Given the description of an element on the screen output the (x, y) to click on. 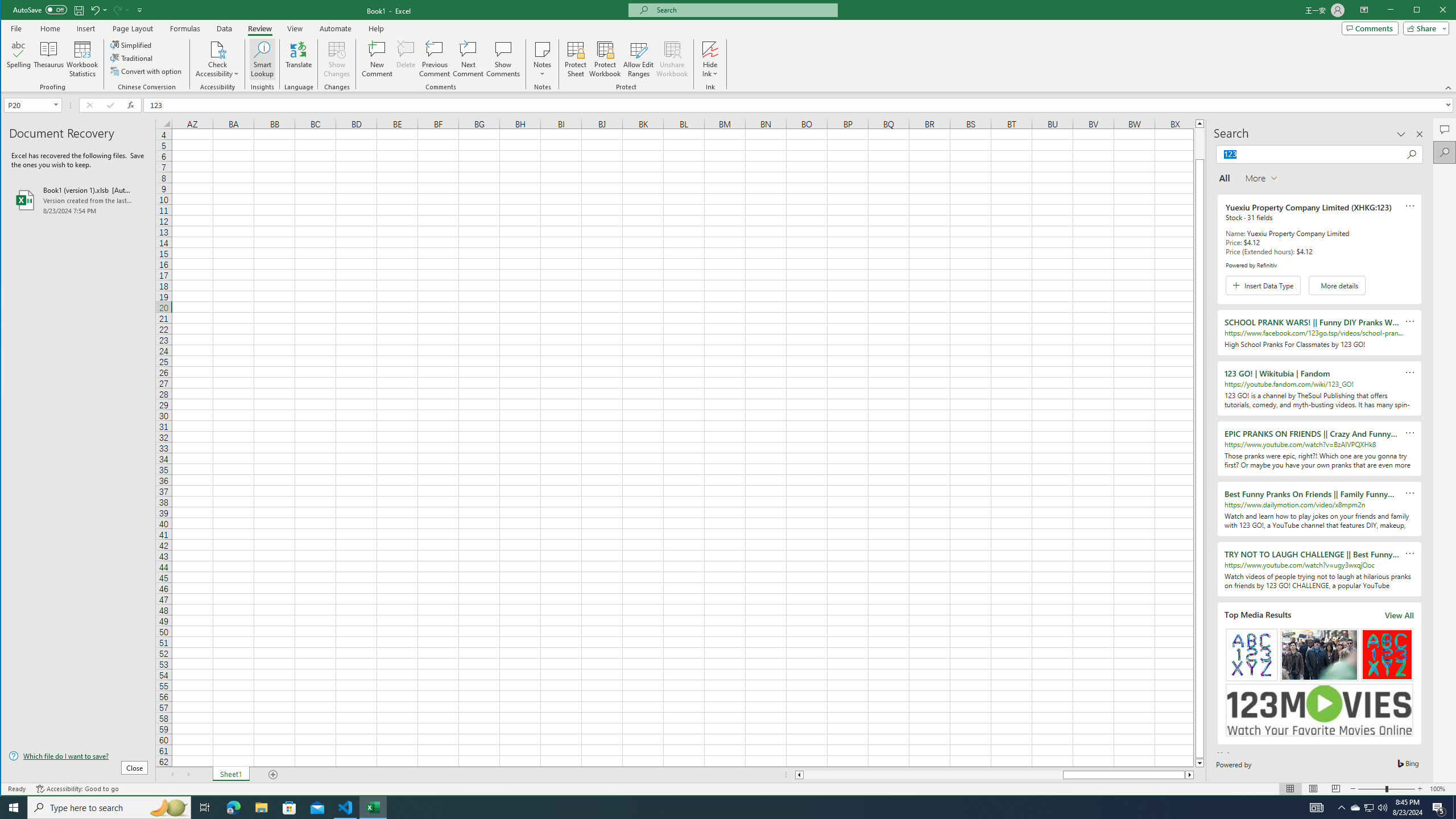
User Promoted Notification Area (1368, 807)
Traditional (132, 57)
Notes (541, 59)
Workbook Statistics (82, 59)
